Given the description of an element on the screen output the (x, y) to click on. 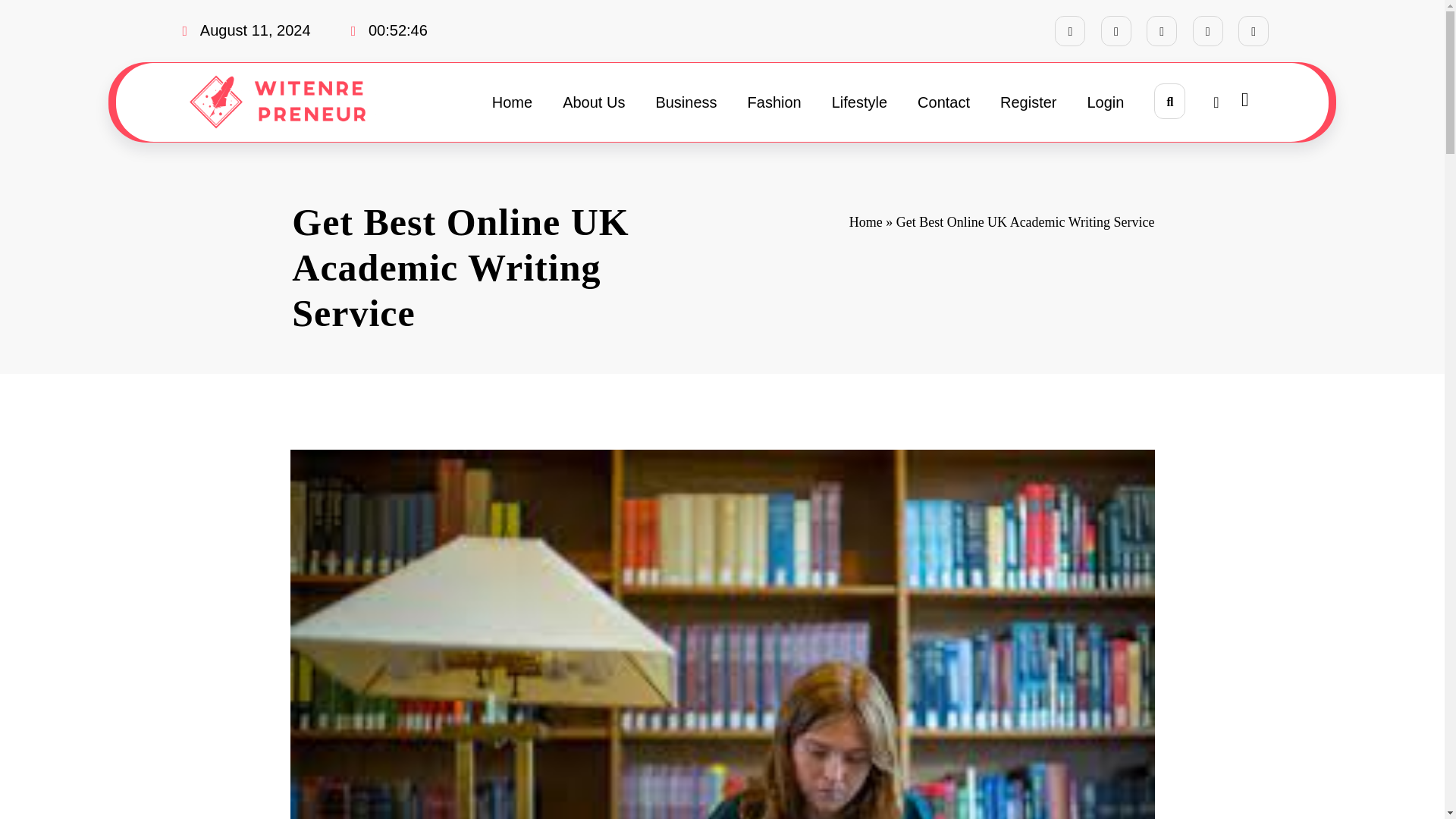
Login (1105, 101)
Home (512, 101)
Register (1028, 101)
Business (686, 101)
Lifestyle (859, 101)
Fashion (774, 101)
Home (865, 222)
About Us (593, 101)
Contact (943, 101)
